Given the description of an element on the screen output the (x, y) to click on. 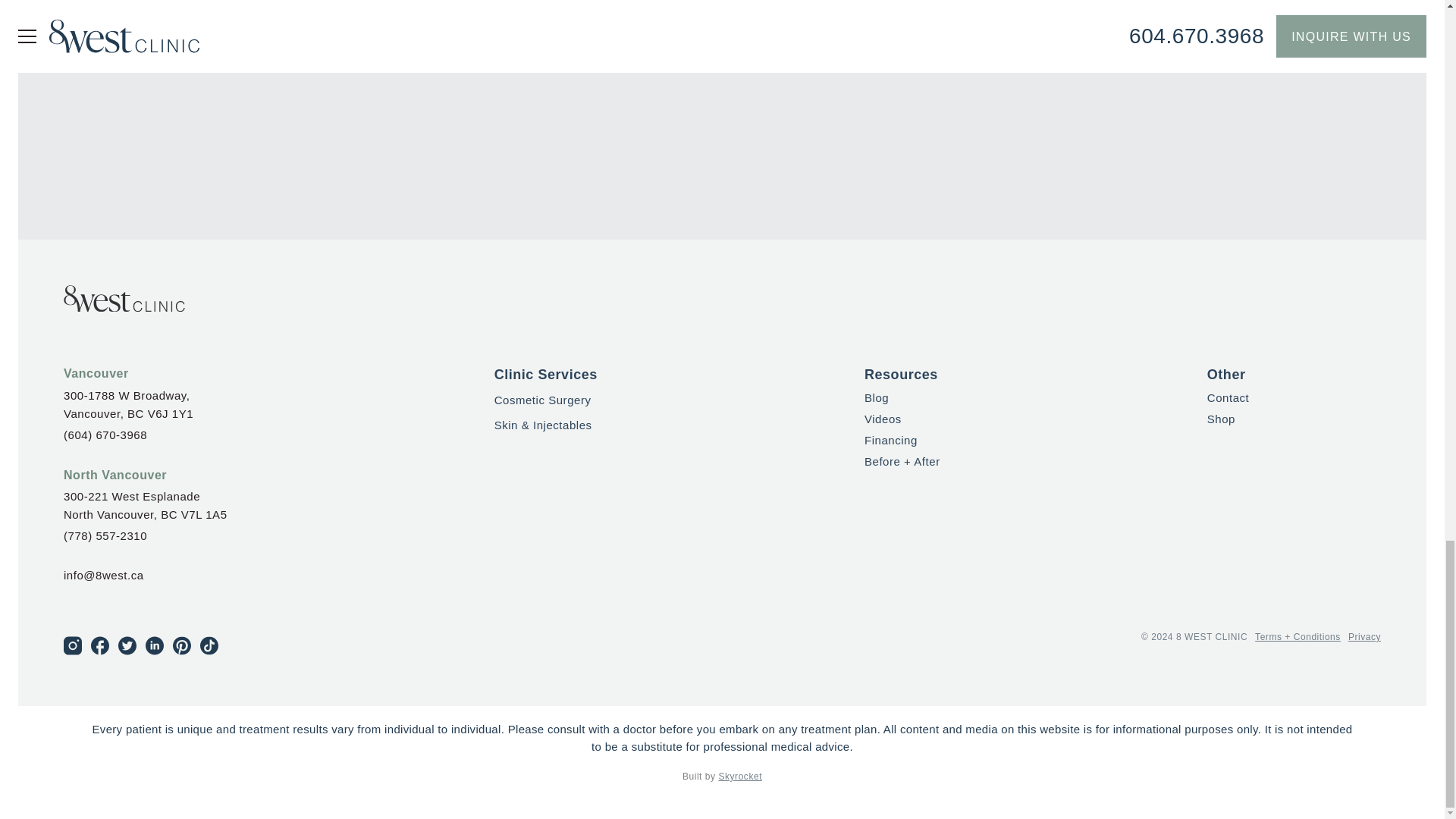
Cosmetic Surgery (543, 400)
